Given the description of an element on the screen output the (x, y) to click on. 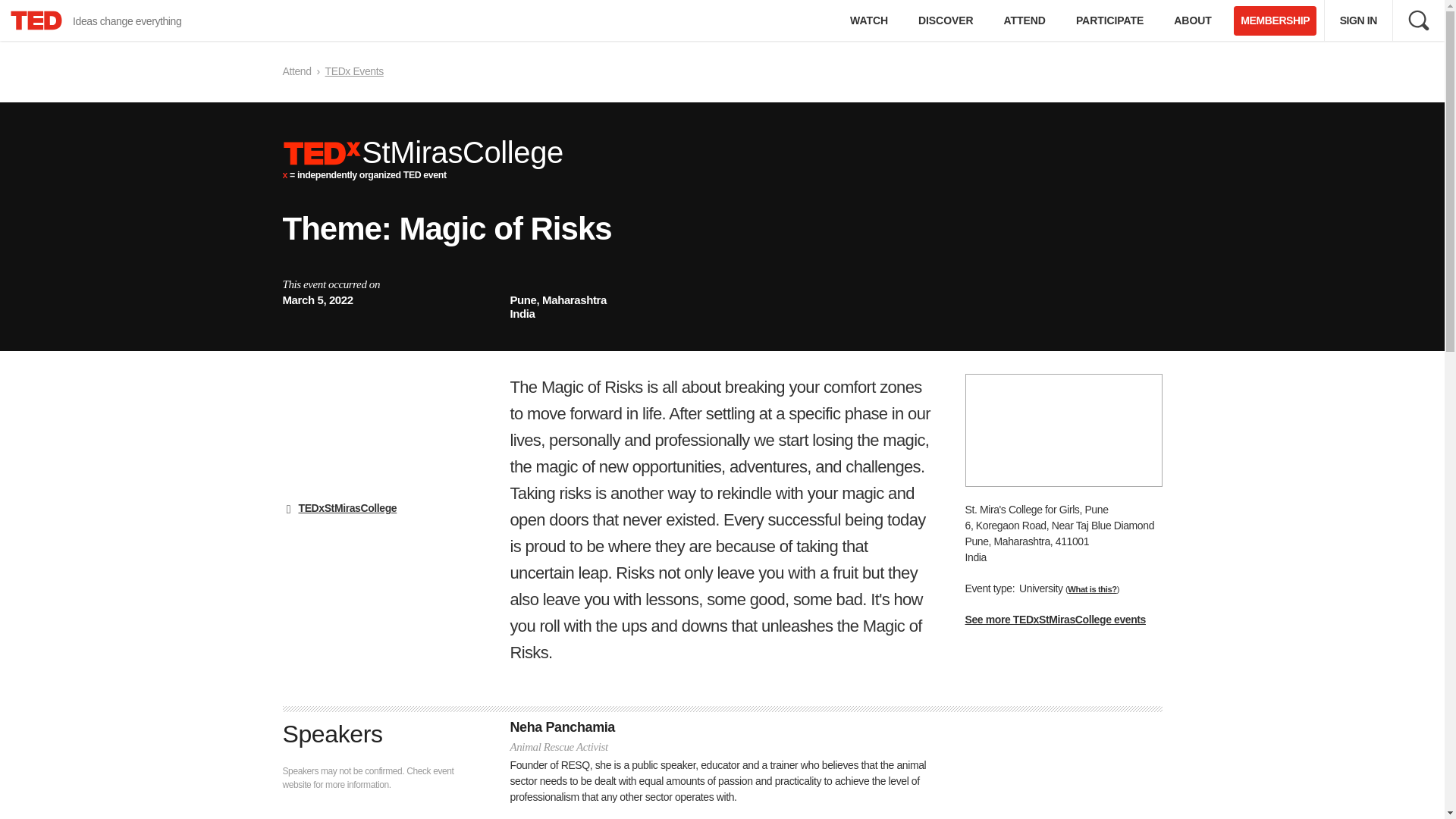
TEDxStMirasCollege (347, 508)
WATCH (868, 20)
ABOUT (1191, 20)
DISCOVER (945, 20)
PARTICIPATE (1109, 20)
What is this? (1091, 588)
Search (96, 20)
MEMBERSHIP (1418, 20)
ATTEND (1274, 20)
